Given the description of an element on the screen output the (x, y) to click on. 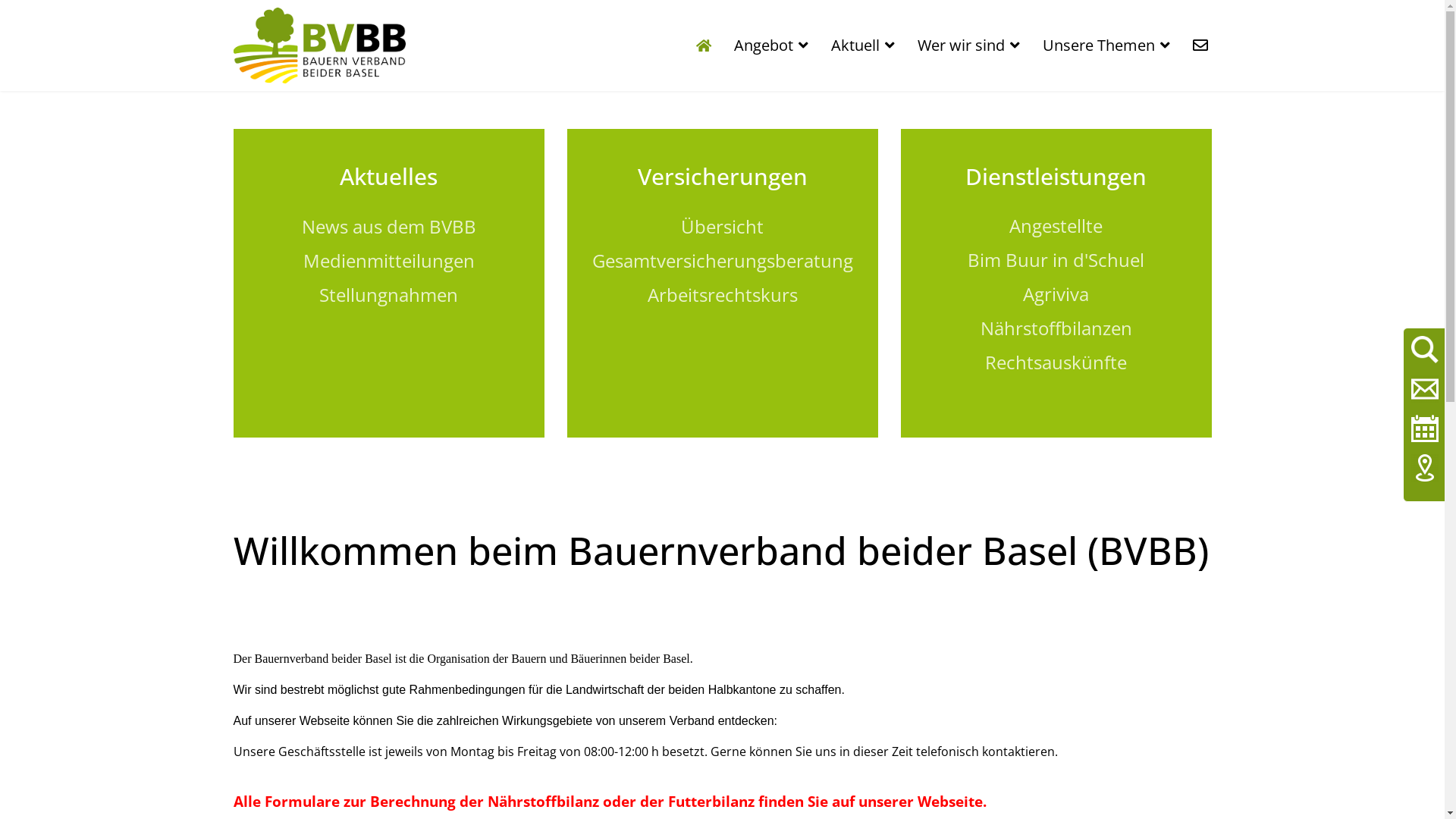
Bim Buur in d'Schuel Element type: text (1055, 259)
Agriviva Element type: text (1055, 293)
Stellungnahmen Element type: text (388, 294)
Angestellte Element type: text (1055, 236)
Aktuell Element type: text (862, 45)
Angebot Element type: text (770, 45)
News aus dem BVBB Element type: text (388, 228)
Wer wir sind Element type: text (967, 45)
Unsere Themen Element type: text (1106, 45)
Versicherungen Element type: text (721, 175)
Gesamtversicherungsberatung Element type: text (721, 260)
Arbeitsrechtskurs Element type: text (722, 296)
Medienmitteilungen Element type: text (388, 260)
